Given the description of an element on the screen output the (x, y) to click on. 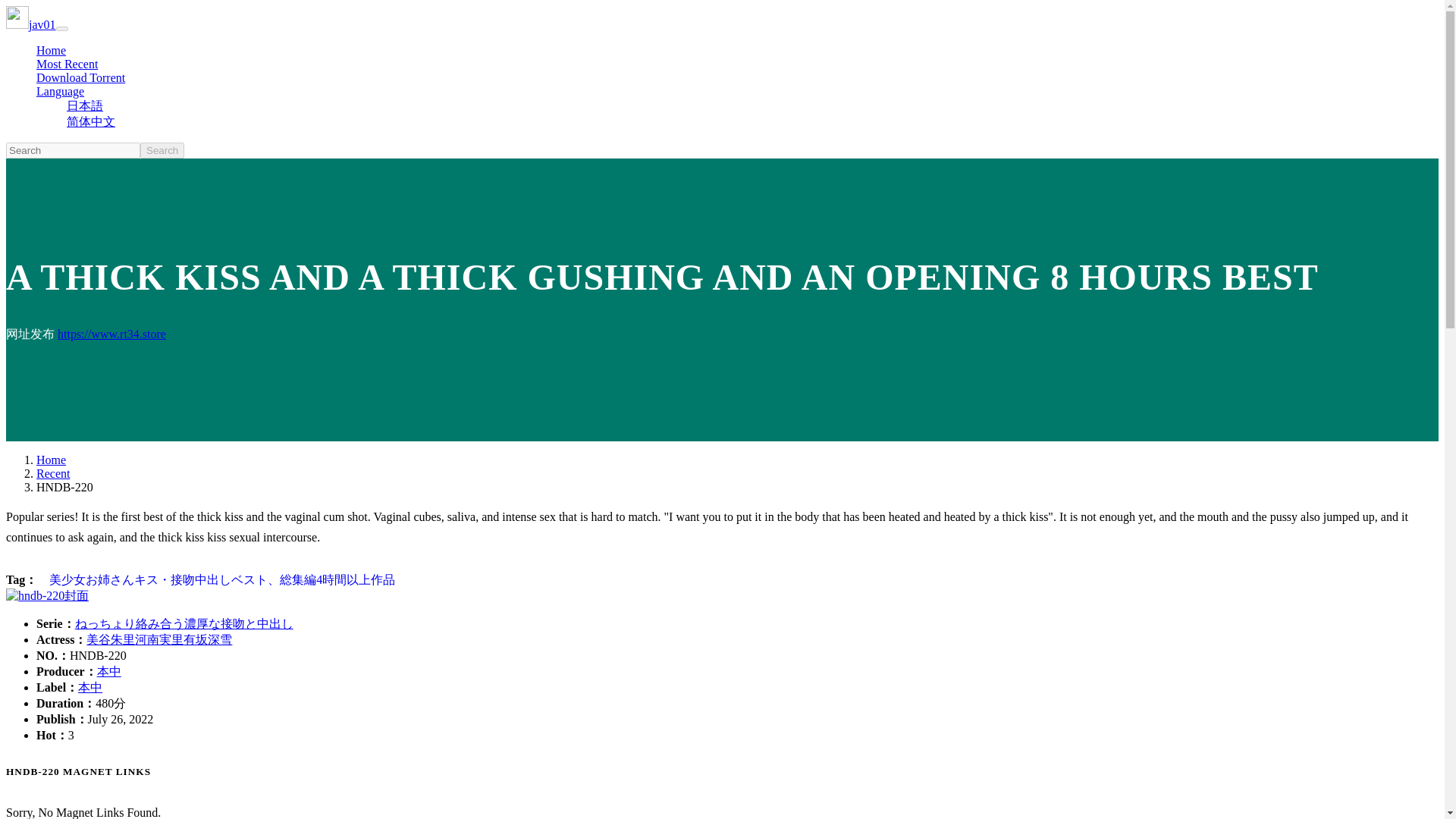
Search (161, 150)
Language (60, 91)
Most Recent (66, 63)
Download Torrent (80, 77)
jav01 (30, 24)
Home (50, 50)
Home (50, 459)
Recent (52, 472)
